Given the description of an element on the screen output the (x, y) to click on. 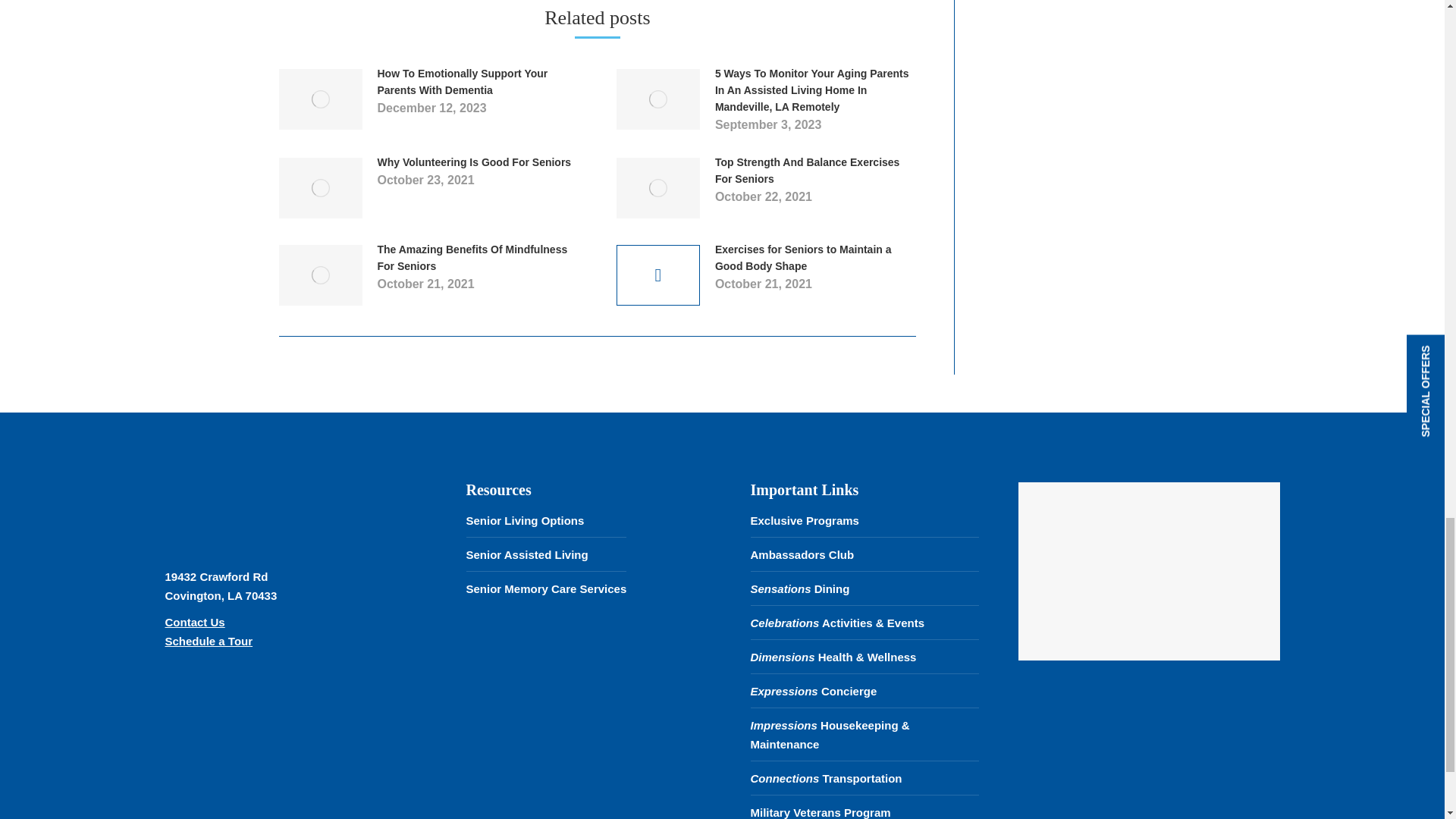
Equal-Housing-Opportunity-logo222 (201, 711)
The Trace WHITE (248, 511)
Equal-Housing-Opportunity-logo22-150x144-1 (295, 711)
